Given the description of an element on the screen output the (x, y) to click on. 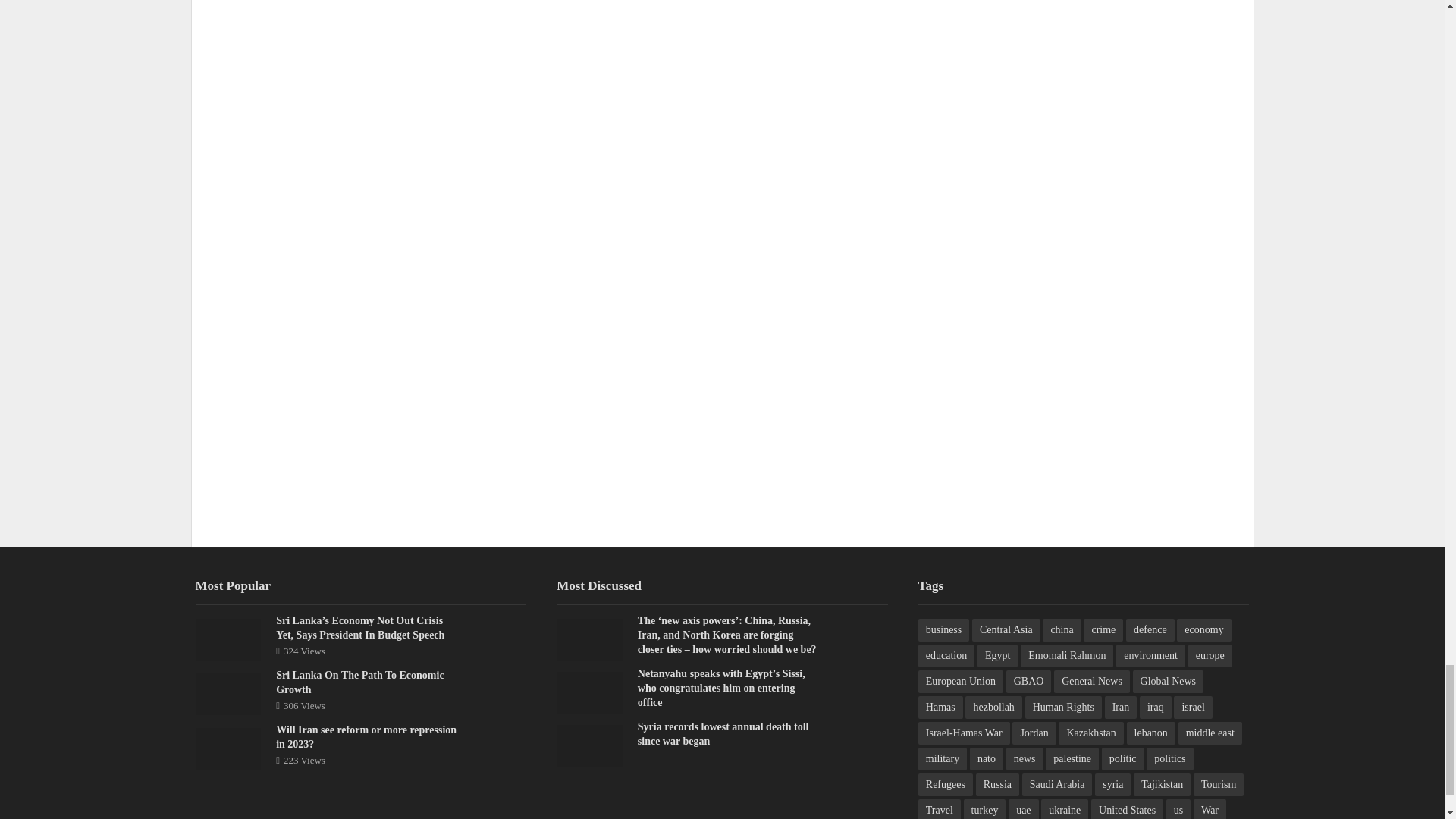
Will Iran see reform or more repression in 2023? (228, 747)
Sri Lanka On The Path To Economic Growth (228, 693)
